Given the description of an element on the screen output the (x, y) to click on. 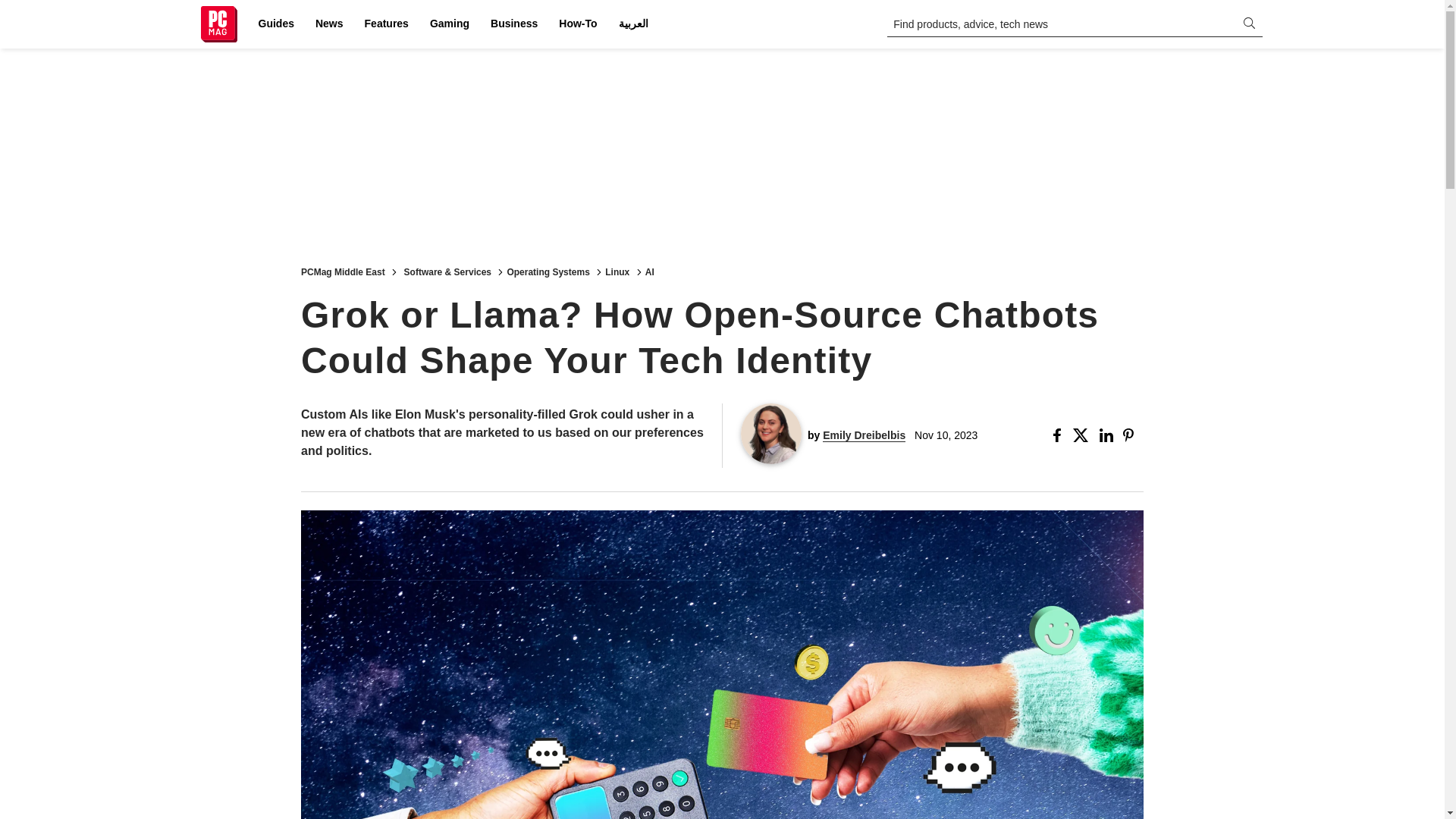
How-To (577, 24)
Emily Dreibelbis (863, 435)
Share this Story on Facebook (1059, 435)
Guides (275, 24)
Linux (616, 270)
PCMag Middle East (343, 270)
Search (21, 7)
Share this Story on Linkedin (1107, 435)
Business (513, 24)
Share this Story on X (1083, 435)
